Given the description of an element on the screen output the (x, y) to click on. 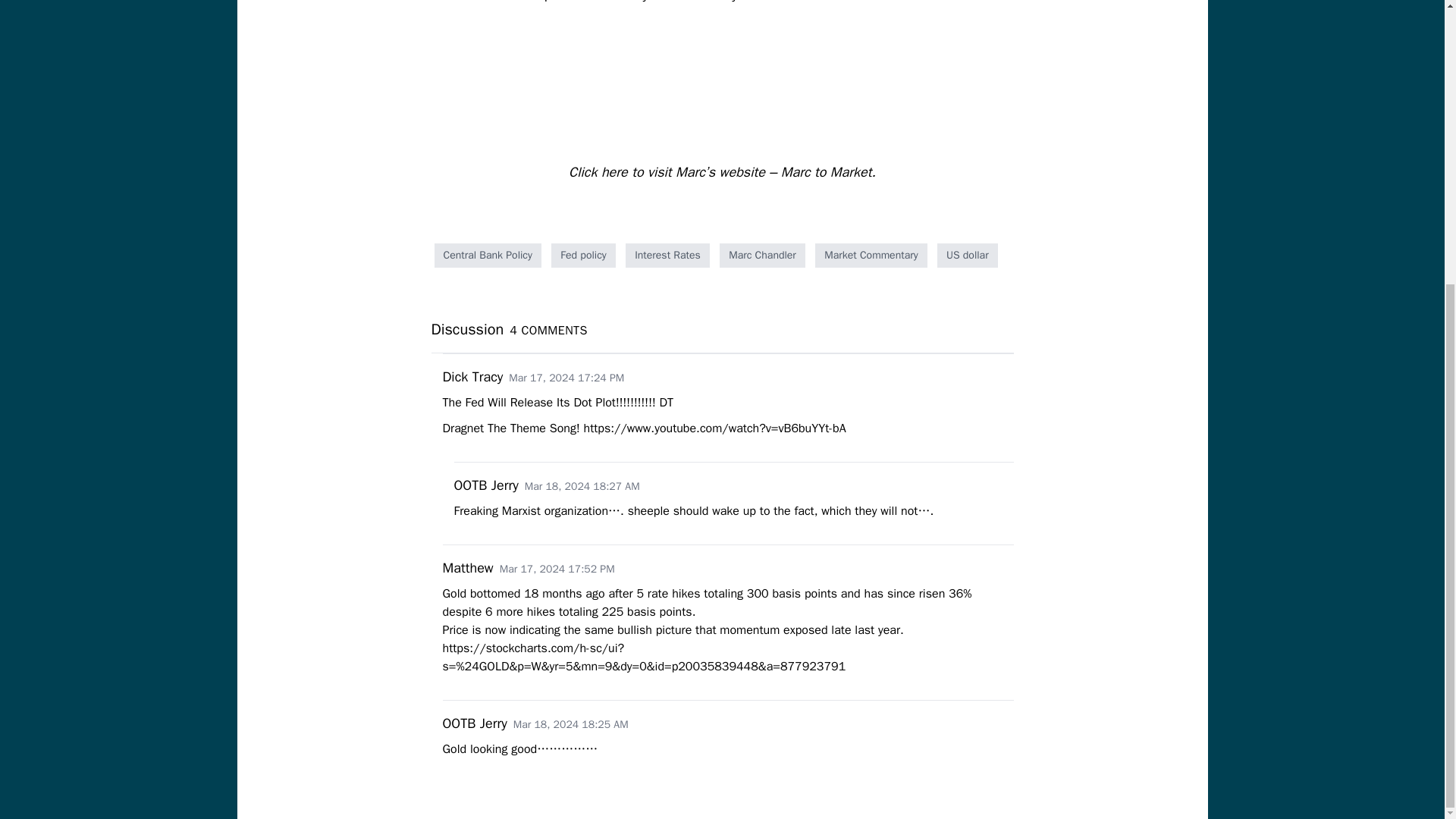
Dick Tracy (472, 376)
Central Bank Policy (486, 255)
Marc Chandler (762, 255)
US dollar (967, 255)
Interest Rates (668, 255)
Market Commentary (870, 255)
Fed policy (582, 255)
